Given the description of an element on the screen output the (x, y) to click on. 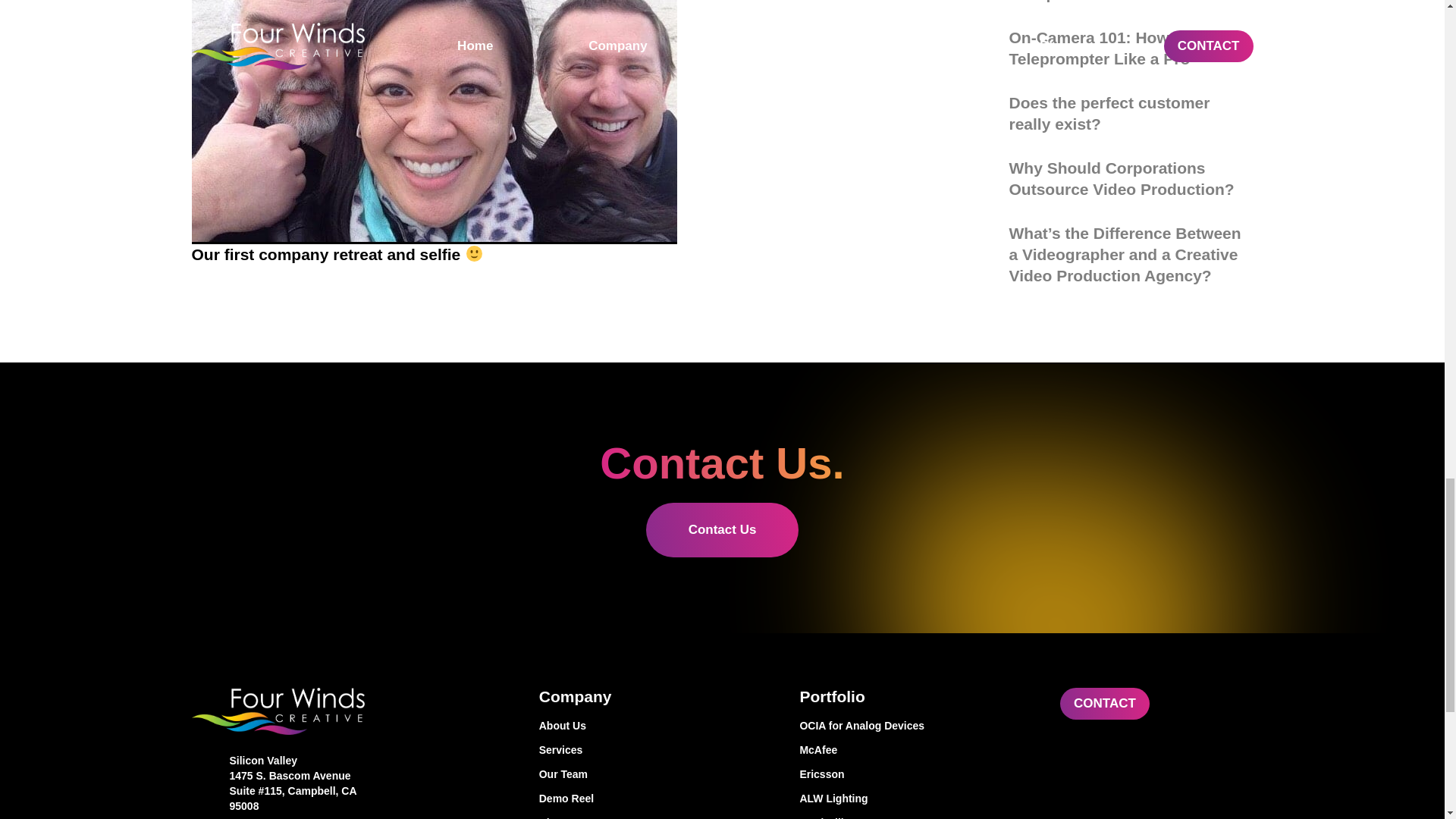
Demo Reel (657, 798)
About Us (657, 725)
OCIA for Analog Devices (917, 725)
Blog (657, 816)
Our Team (657, 774)
Services (657, 749)
Brad Gilbert (917, 816)
Contact Us (722, 529)
McAfee (917, 749)
Silicon Valley (262, 760)
